Given the description of an element on the screen output the (x, y) to click on. 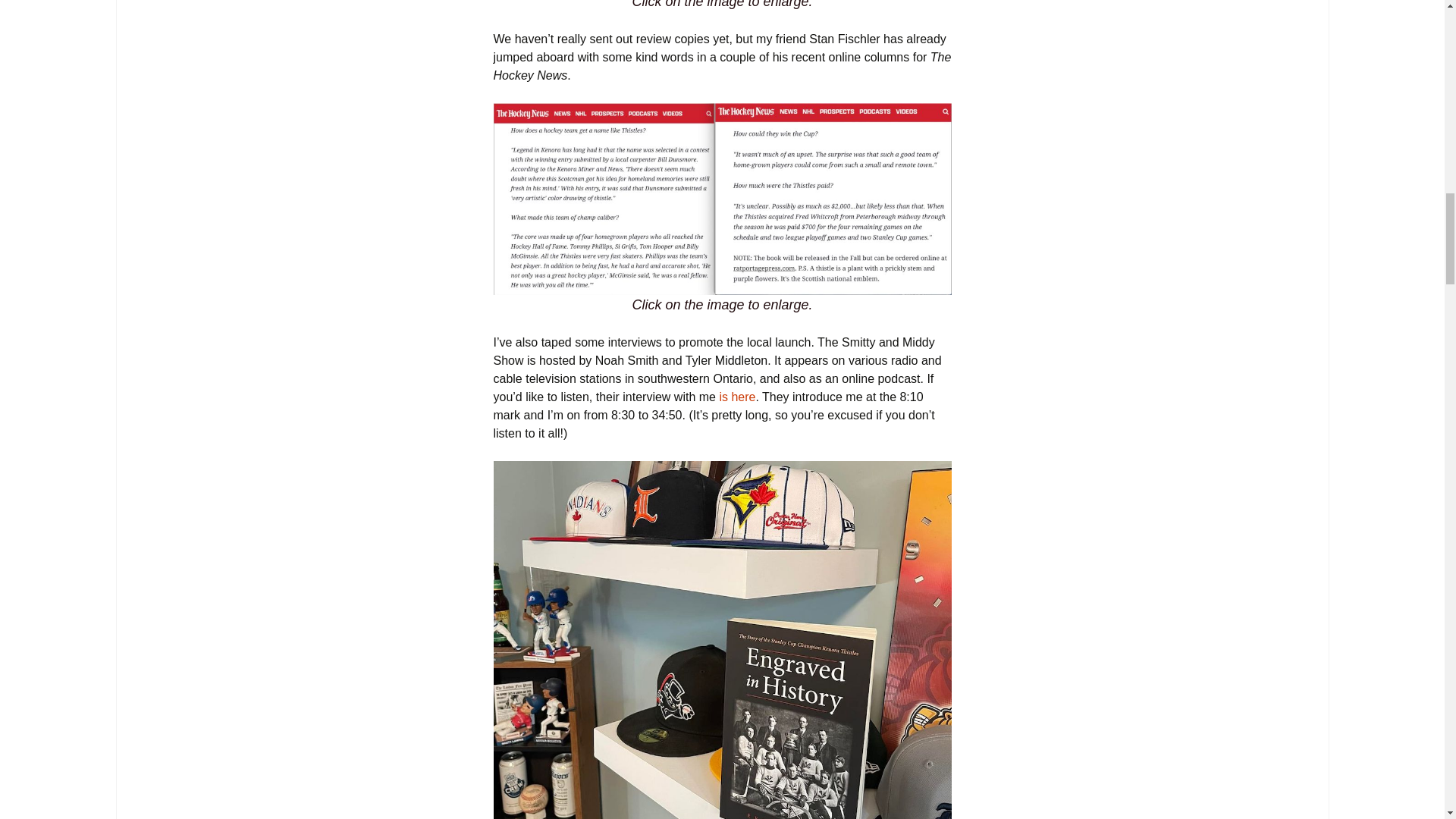
is here (737, 396)
